Given the description of an element on the screen output the (x, y) to click on. 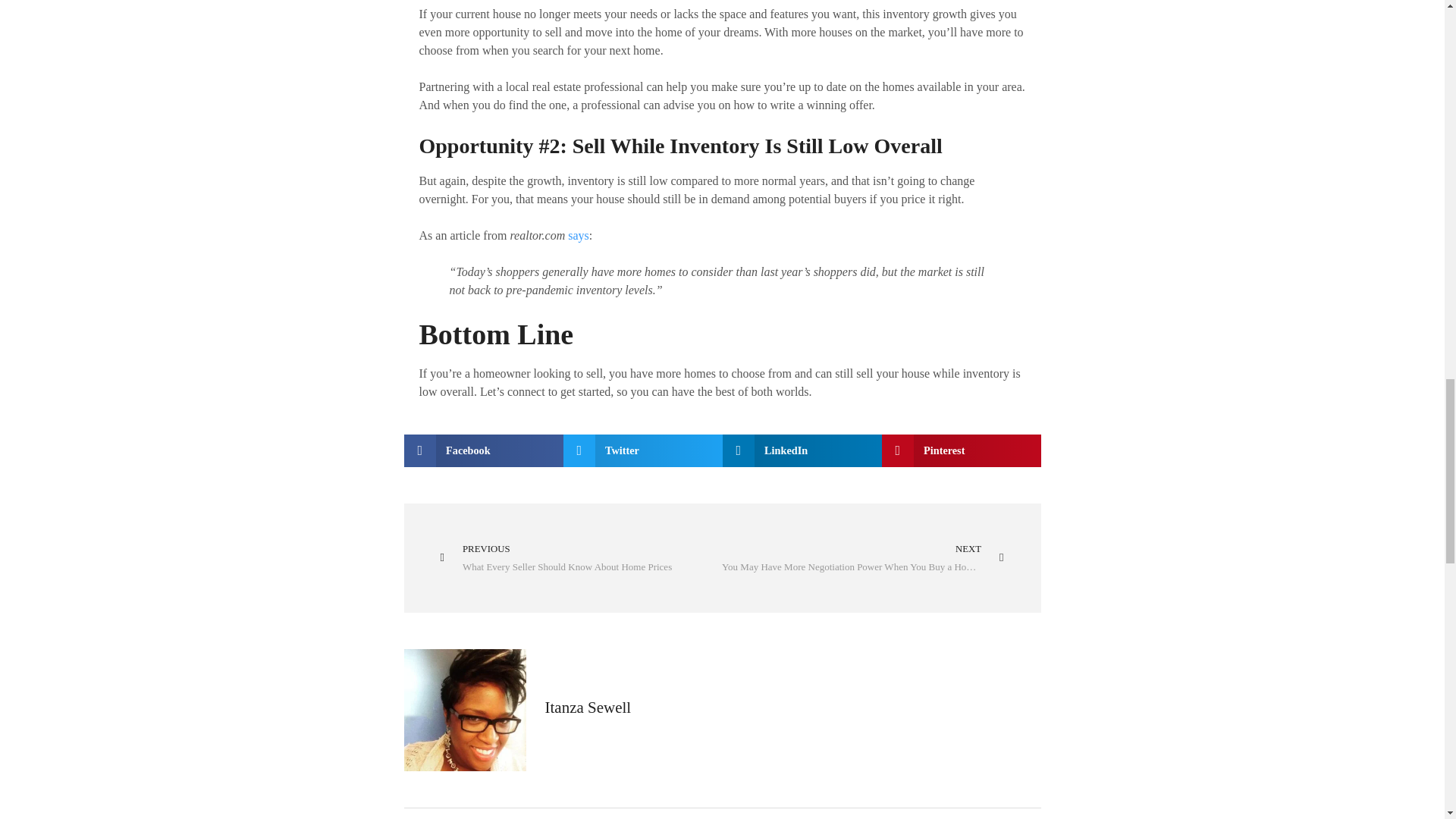
Itanza Sewell (722, 715)
says (722, 450)
says (580, 557)
